Given the description of an element on the screen output the (x, y) to click on. 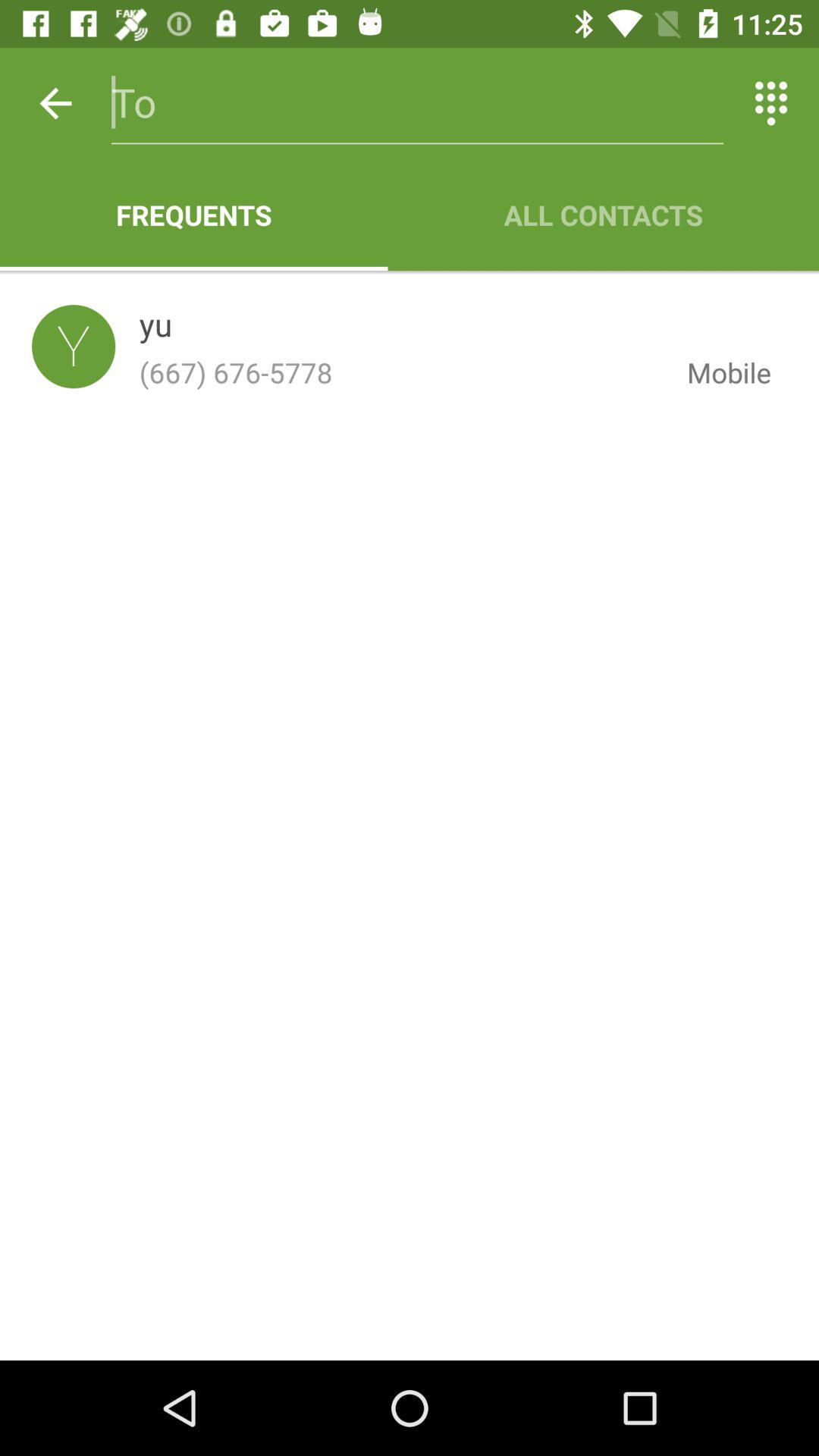
open the all contacts item (603, 214)
